Given the description of an element on the screen output the (x, y) to click on. 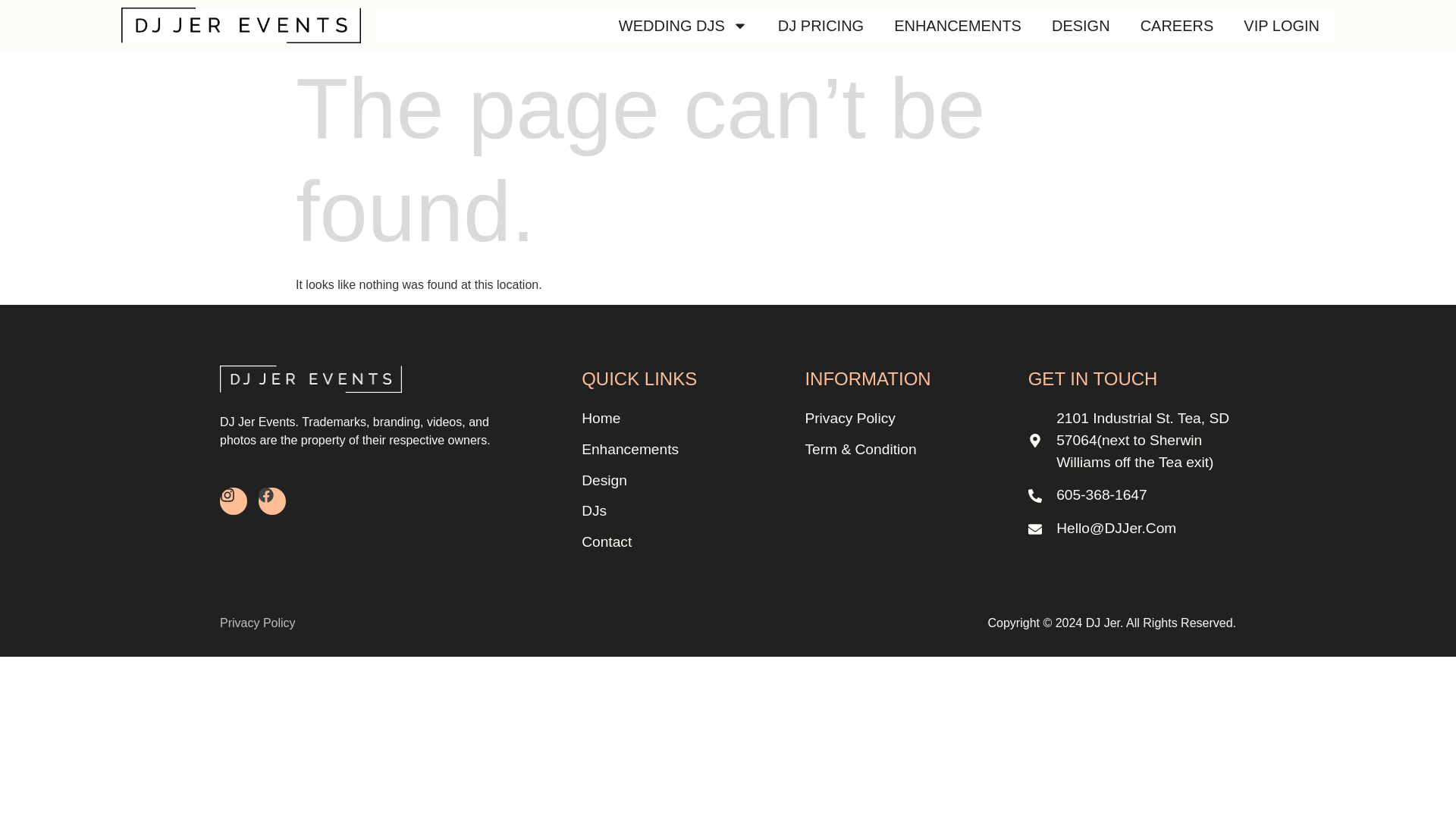
CAREERS (1176, 25)
DJ PRICING (820, 25)
ENHANCEMENTS (957, 25)
WEDDING DJS (683, 25)
VIP LOGIN (1281, 25)
DESIGN (1080, 25)
